Given the description of an element on the screen output the (x, y) to click on. 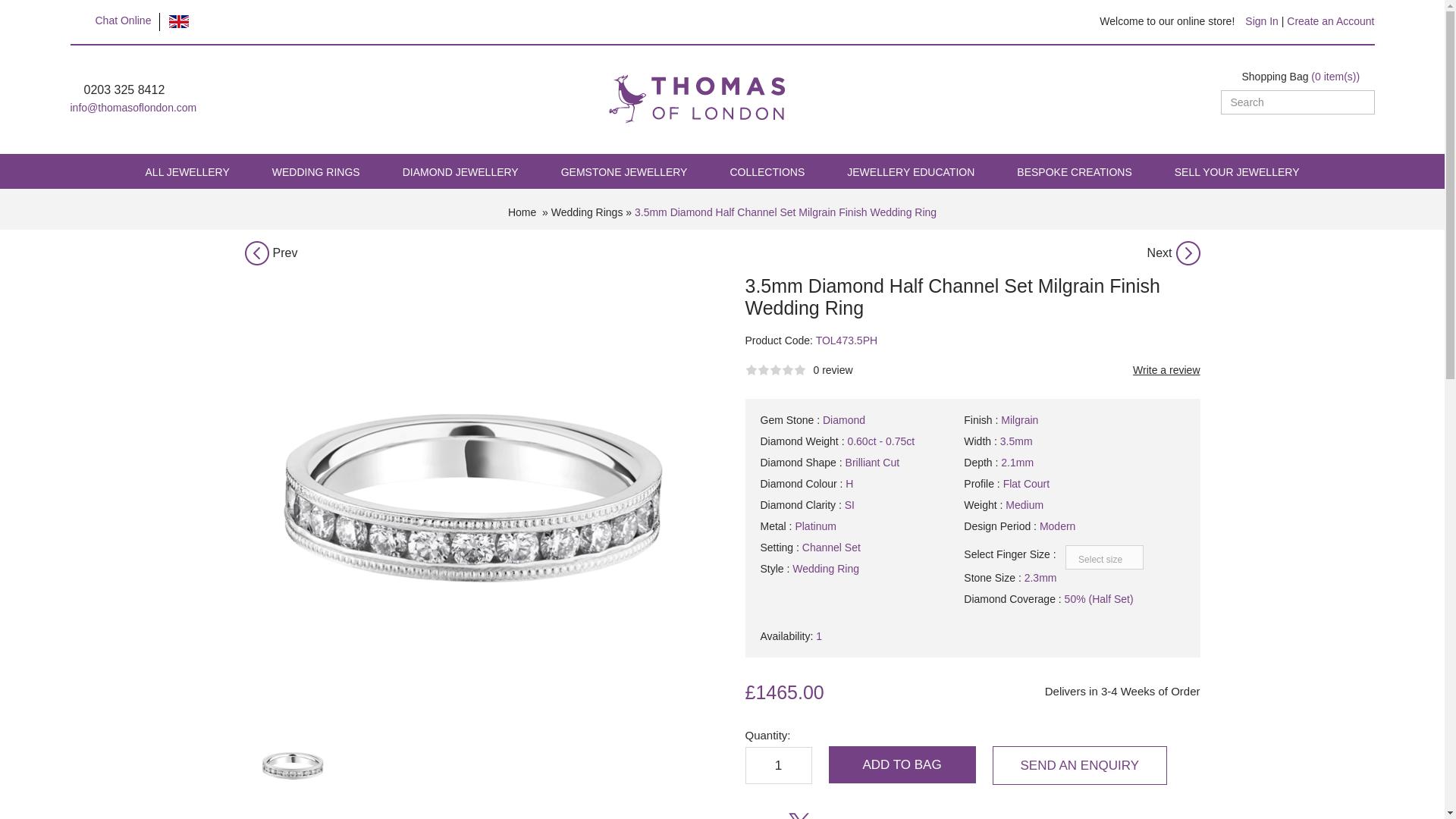
Sign In (1261, 21)
Thomas of London (696, 80)
Create an Account (1330, 21)
Sign In (1261, 21)
Chat Online (123, 20)
Create an Account (1330, 21)
My Bag (1300, 76)
1 (777, 764)
GBP (178, 21)
